Given the description of an element on the screen output the (x, y) to click on. 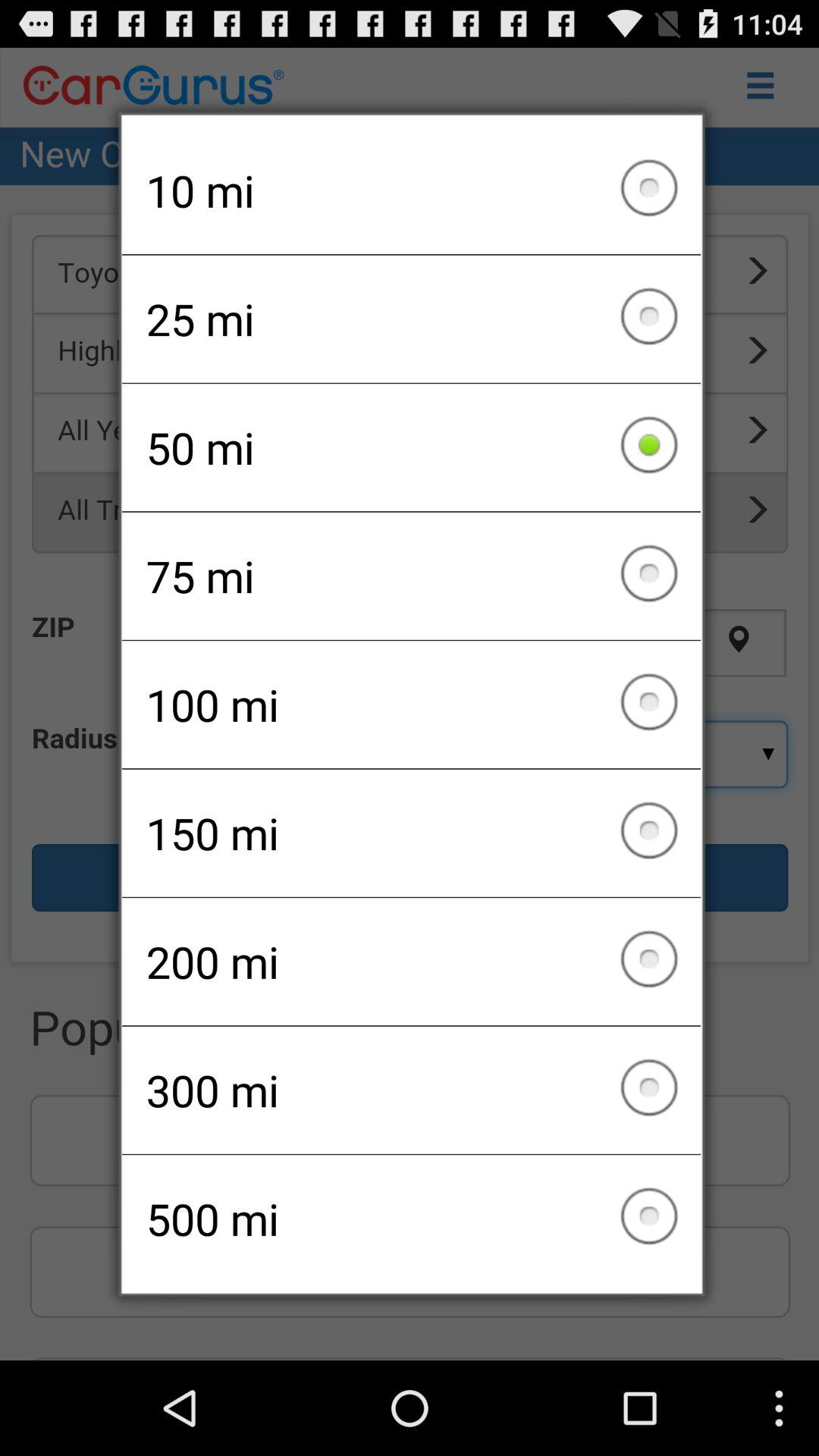
press item above 500 mi item (411, 1089)
